Given the description of an element on the screen output the (x, y) to click on. 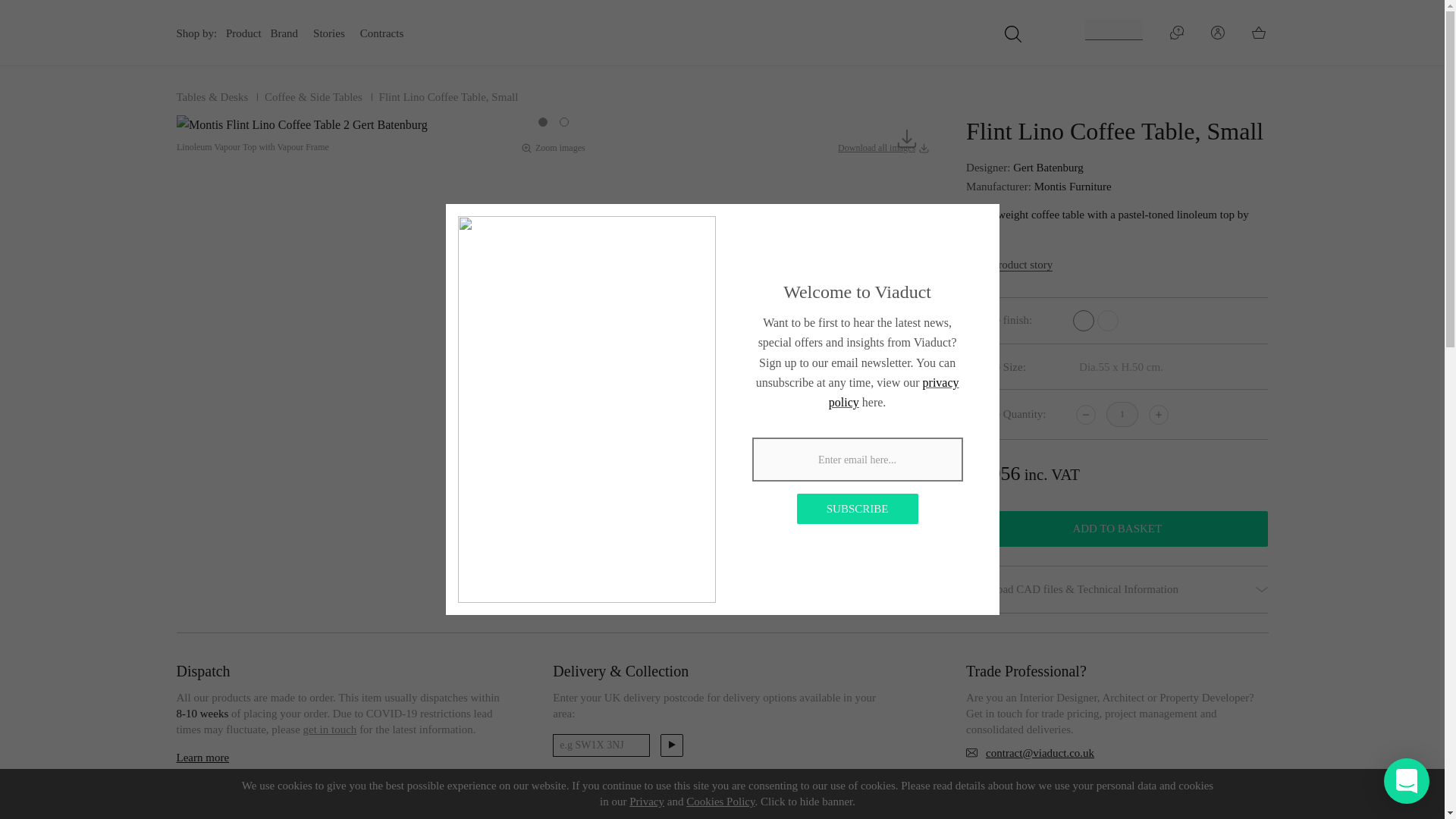
1 (1122, 414)
Product (243, 33)
Subscribe (857, 508)
Home logo (721, 29)
